Given the description of an element on the screen output the (x, y) to click on. 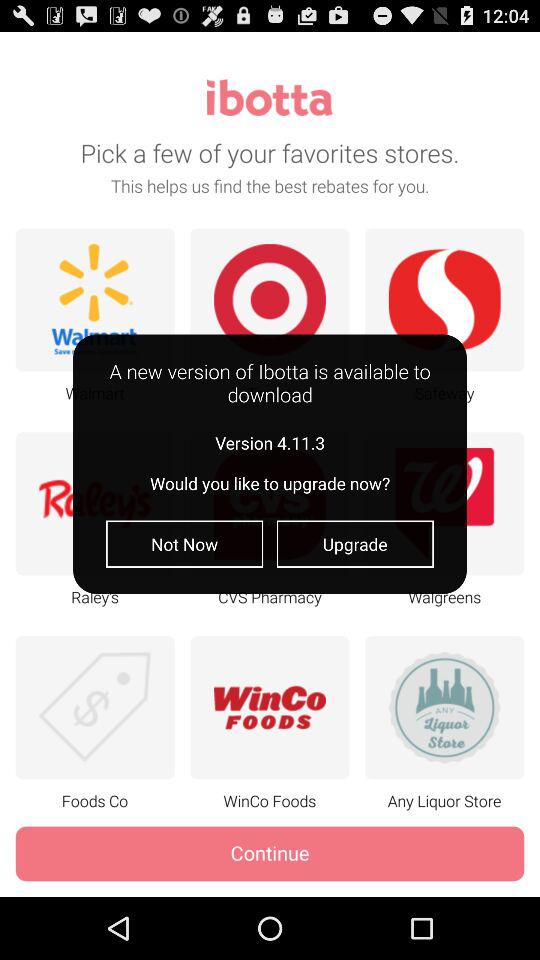
scroll to the not now item (184, 543)
